Given the description of an element on the screen output the (x, y) to click on. 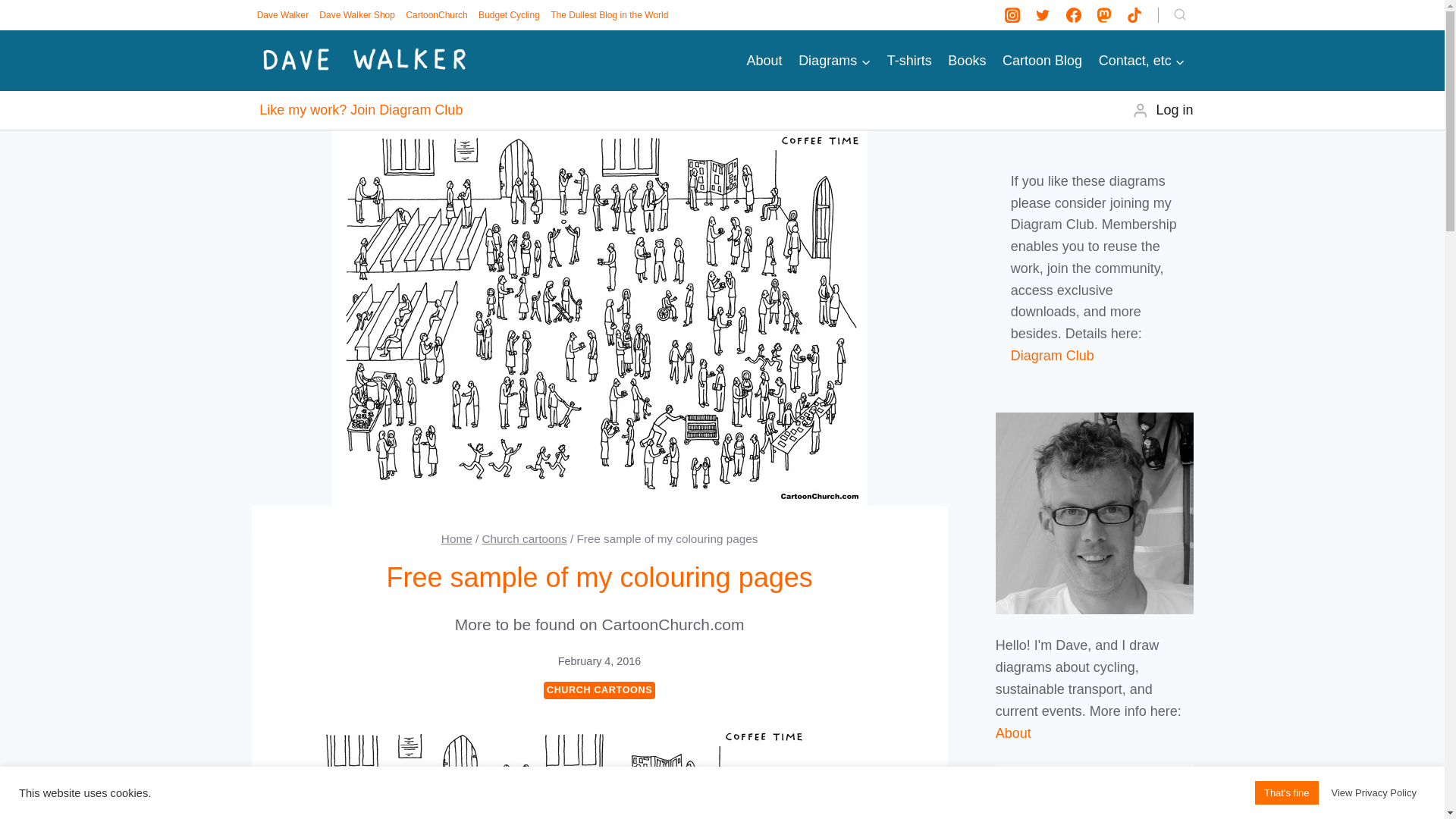
CartoonChurch (436, 14)
Books (967, 60)
Cartoon Blog (1042, 60)
T-shirts (909, 60)
Diagrams (834, 60)
The Dullest Blog in the World (609, 14)
About (764, 60)
Dave Walker (282, 14)
Contact, etc (1141, 60)
Dave Walker Shop (357, 14)
Budget Cycling (508, 14)
